Given the description of an element on the screen output the (x, y) to click on. 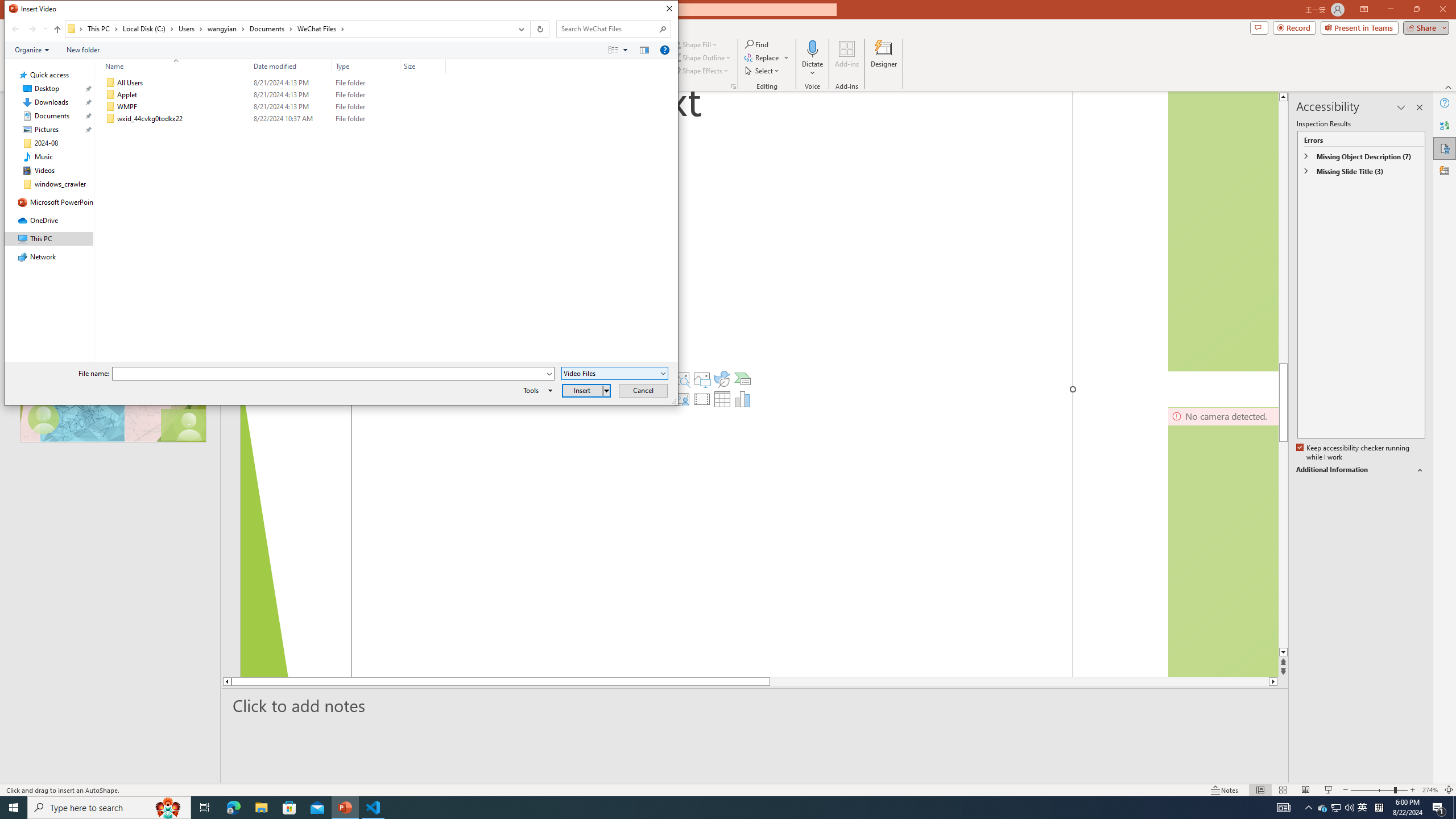
WMPF (273, 106)
Files of type: (615, 373)
Filter dropdown (440, 65)
View Slider (625, 49)
File name: (333, 373)
